Given the description of an element on the screen output the (x, y) to click on. 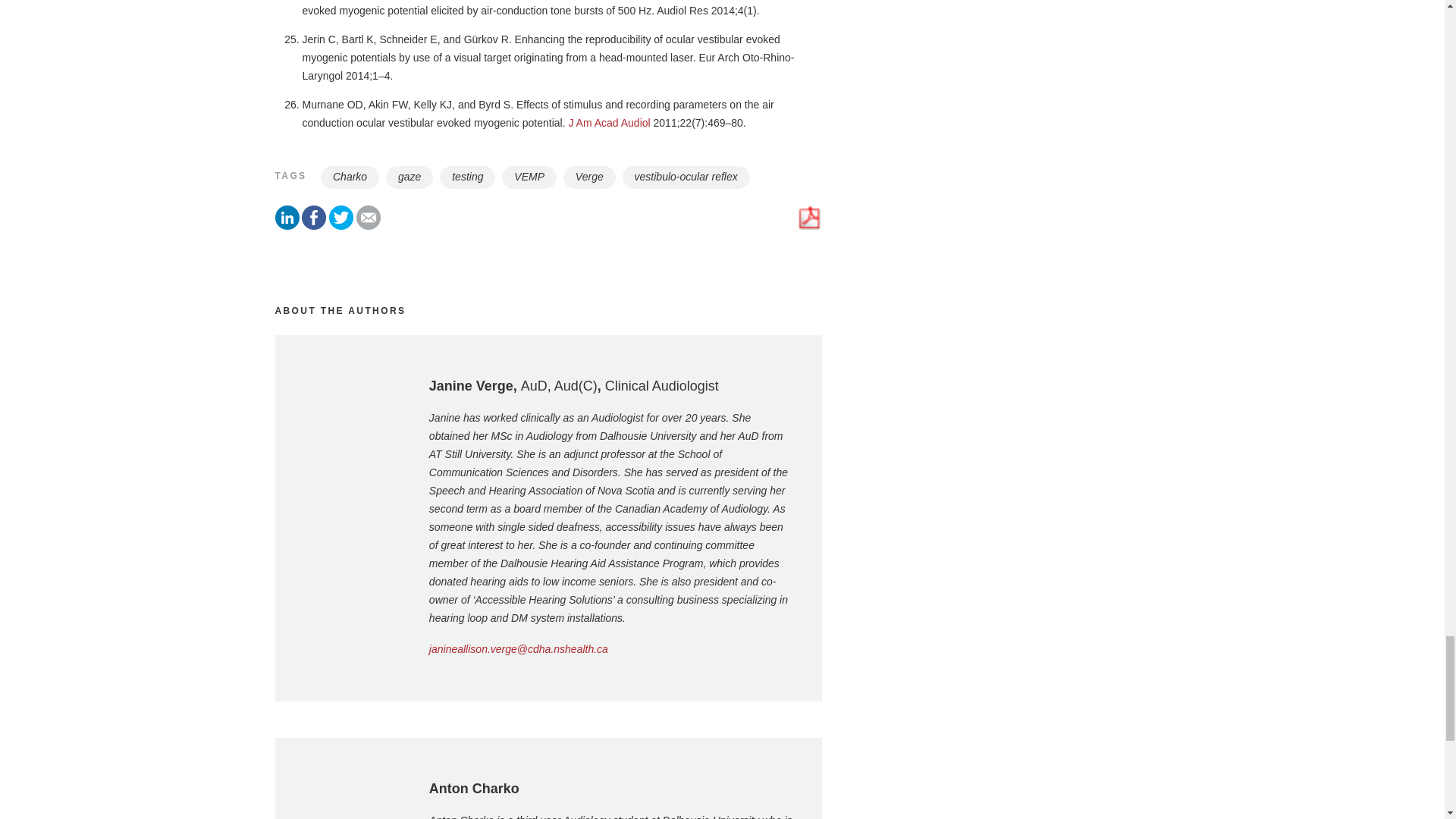
Send email (368, 225)
Share on Facebook (313, 225)
Share on LinkedIn (286, 225)
Tweet (341, 225)
